Given the description of an element on the screen output the (x, y) to click on. 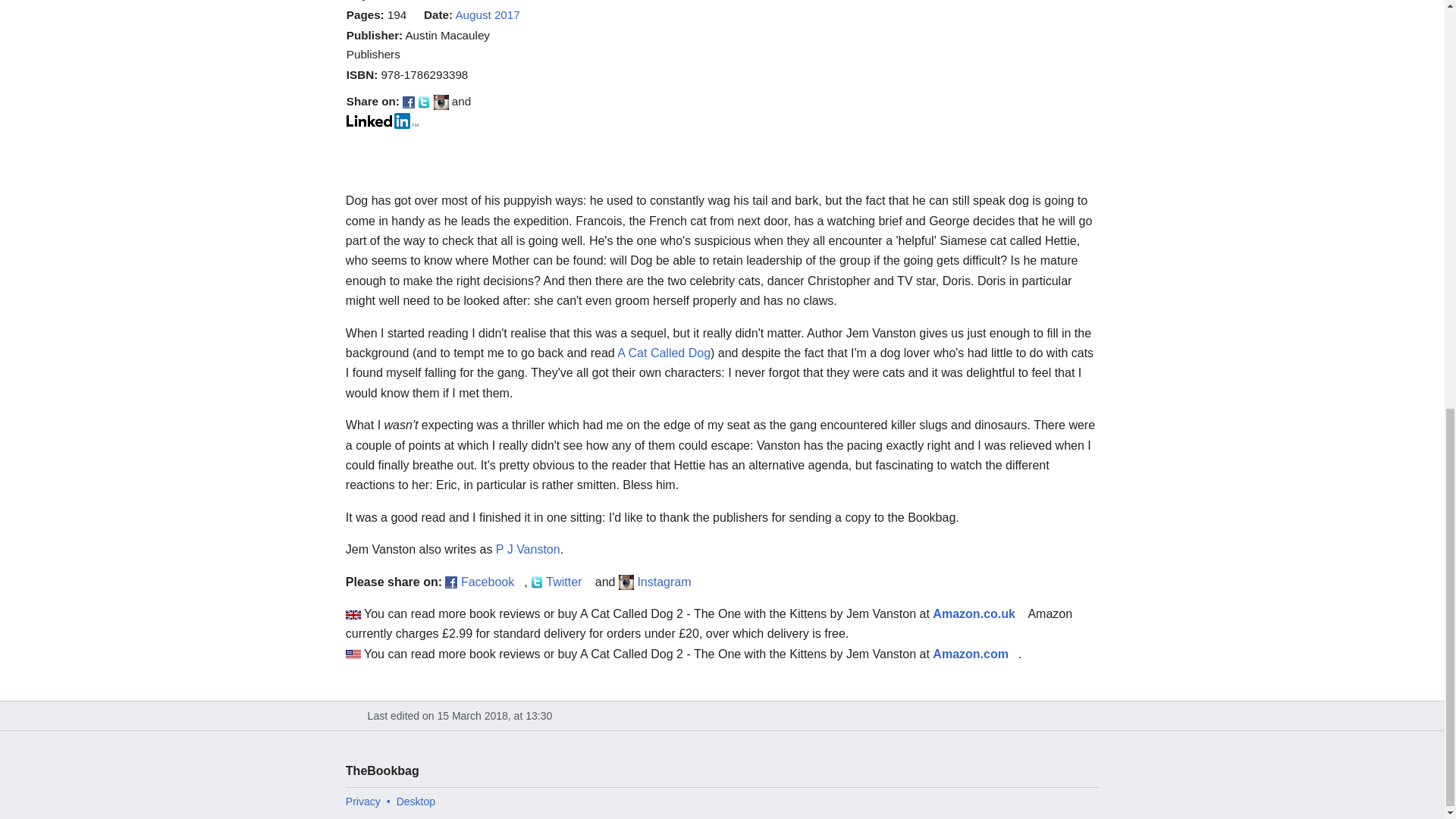
Desktop (415, 801)
Category:PJ Vanston (528, 549)
Amazon.com (975, 653)
Facebook (492, 581)
Instagram (668, 581)
August 2017 (486, 14)
Category:August 2017 (486, 14)
Last edited on 15 March 2018, at 13:30 (723, 715)
Privacy (363, 801)
Twitter (568, 581)
TheBookbag:Privacy policy (363, 801)
P J Vanston (528, 549)
A Cat Called Dog by Jem Vanston (663, 352)
Amazon.co.uk (979, 613)
A Cat Called Dog (663, 352)
